Given the description of an element on the screen output the (x, y) to click on. 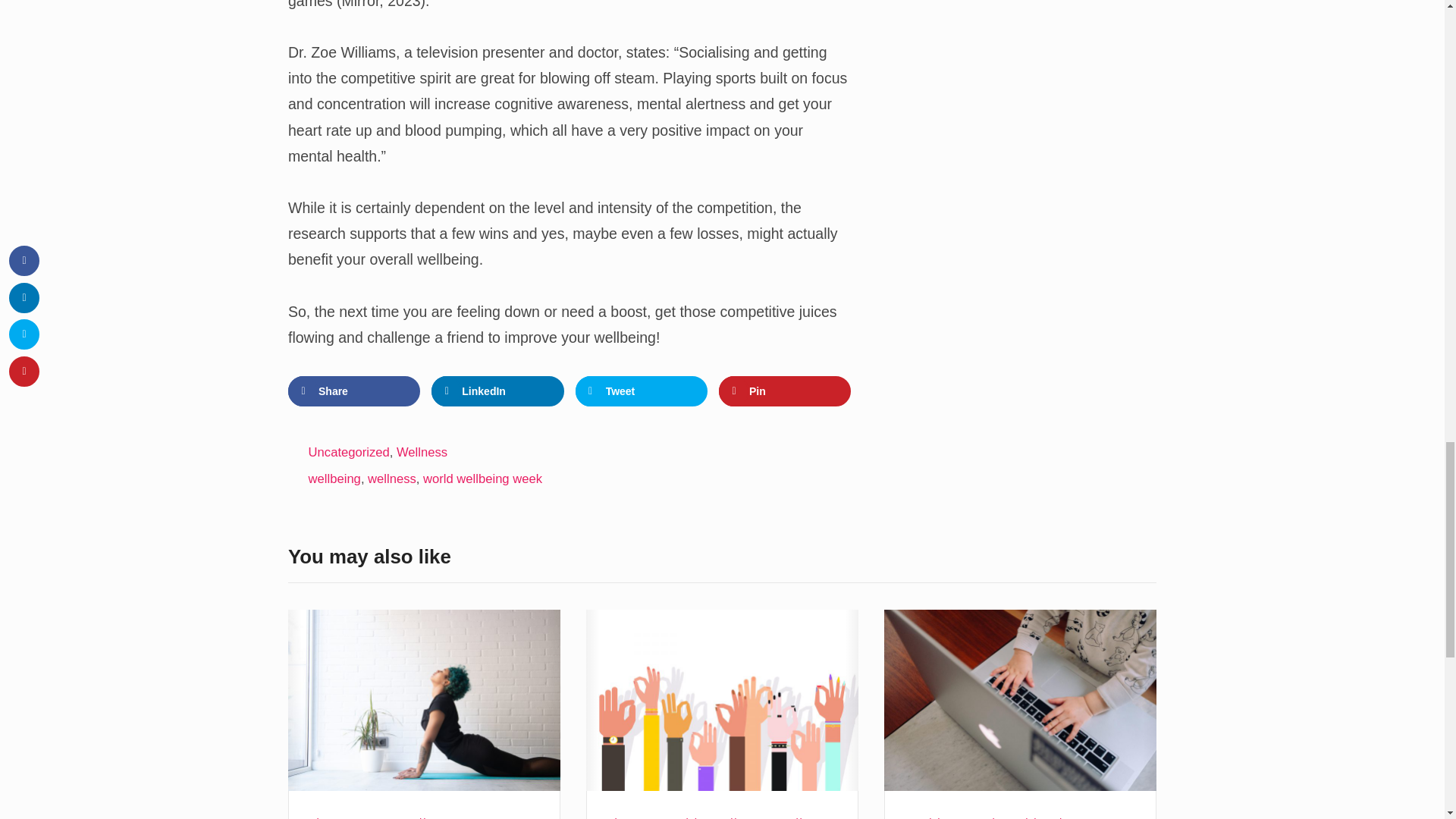
Wellness (428, 817)
Health (681, 817)
Wellness (739, 817)
Tweet (641, 390)
wellbeing (334, 478)
LinkedIn (496, 390)
The Four Fundamental Pillars of Employee Wellbeing (722, 700)
Recovery after exercise (424, 700)
wellness (392, 478)
